Given the description of an element on the screen output the (x, y) to click on. 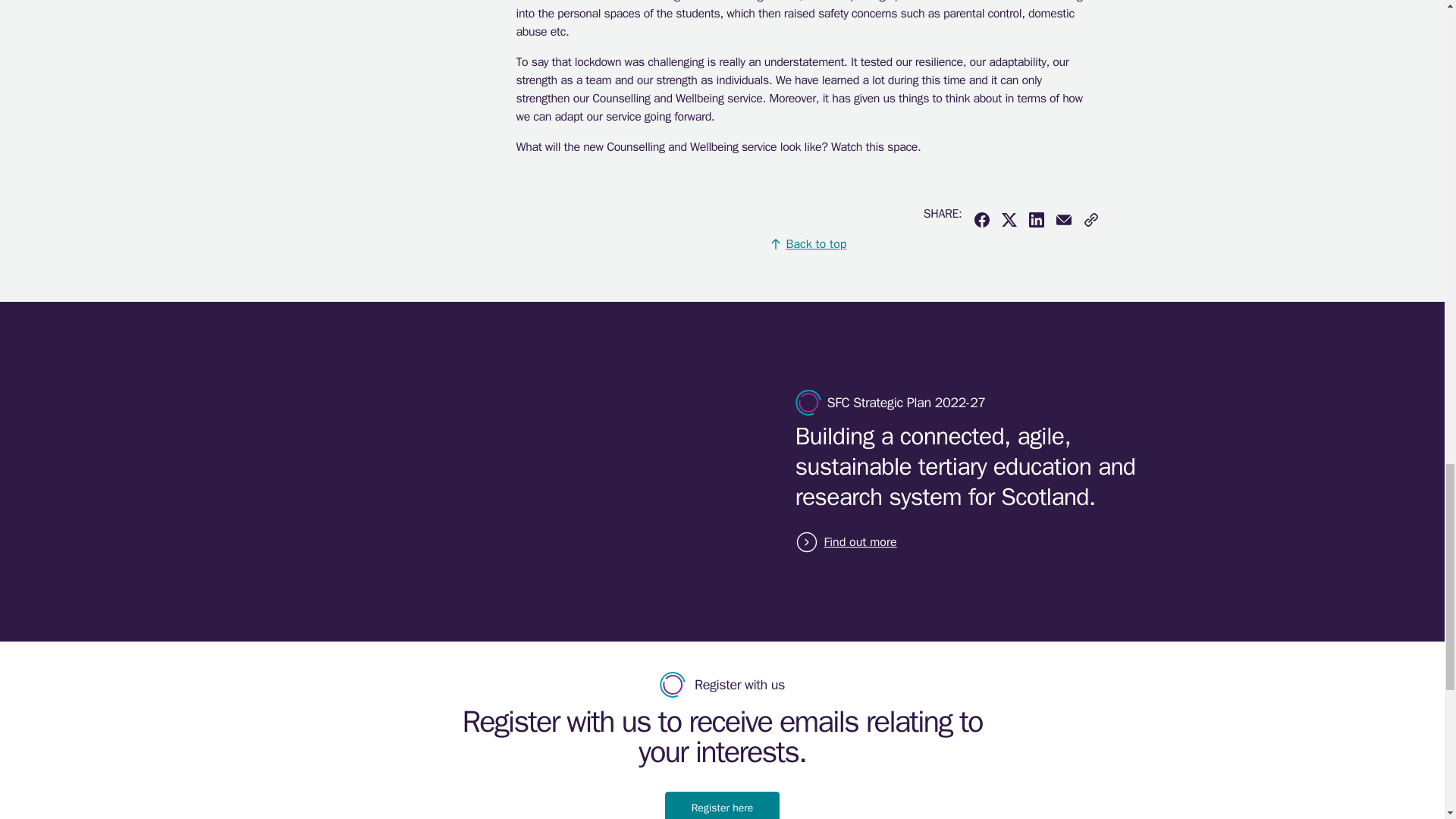
Share this article on Linkedin (1035, 219)
Back to top (807, 244)
Share this article on Twitter (1008, 219)
Share this article on Facebook (981, 219)
Share this article by email (1062, 219)
Find out more (856, 542)
